Given the description of an element on the screen output the (x, y) to click on. 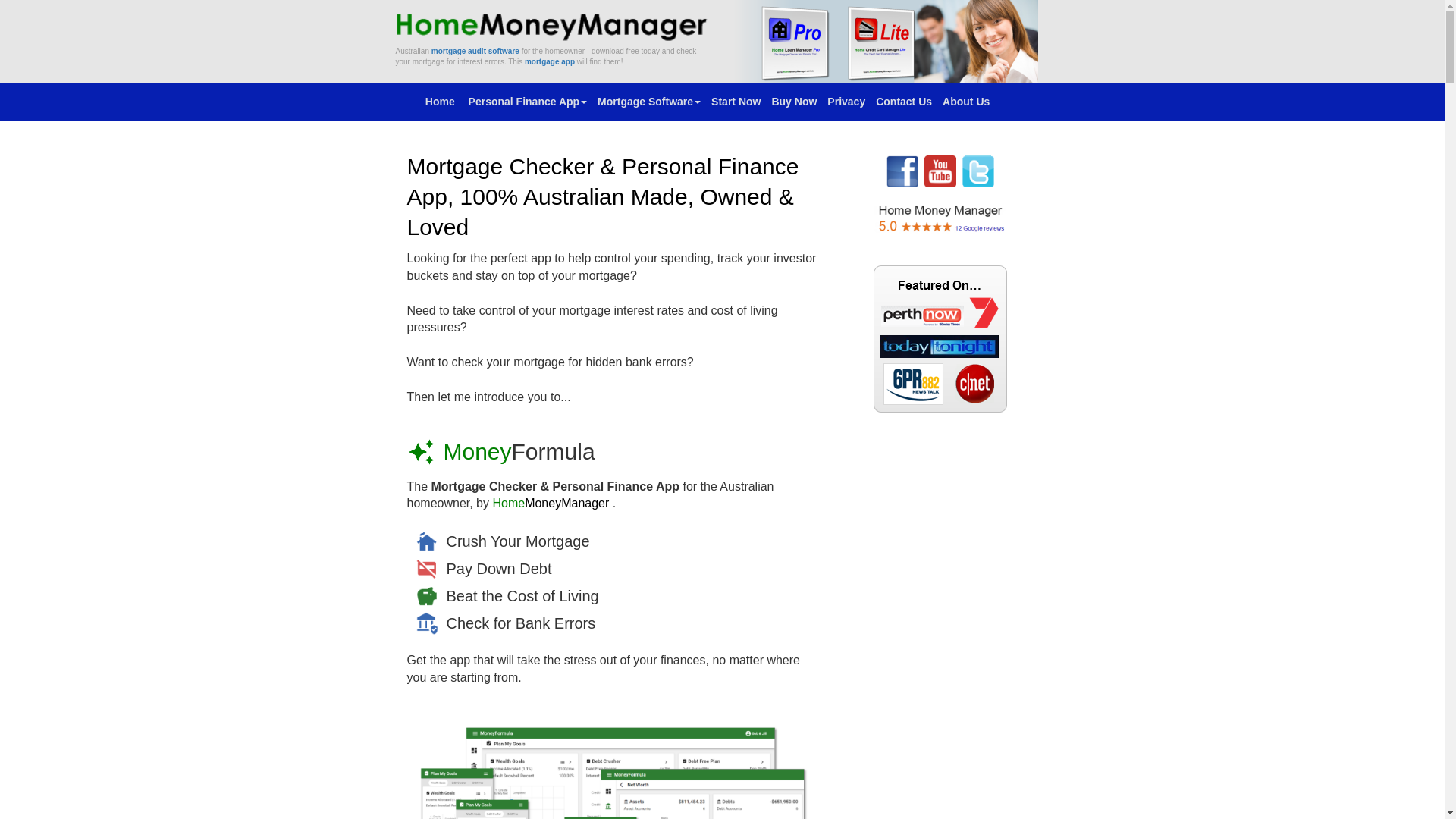
MoneyFormula Element type: text (518, 451)
mortgage app Element type: text (549, 61)
Mortgage Software - Reviews and Testimonials Element type: hover (940, 217)
About Us Element type: text (965, 101)
Buy Now Element type: text (793, 101)
Start Now Element type: text (735, 101)
Privacy Element type: text (846, 101)
Contact Us Element type: text (903, 101)
www.HomeMoneyManager.com Element type: hover (553, 24)
HomeMoneyManager - YouTube Channel Element type: hover (940, 171)
Home  Element type: text (441, 101)
Mortgage Software Element type: text (649, 101)
HomeMoneyManager - Facebook Page Element type: hover (902, 171)
HomeMoneyManager - Twitter Page Element type: hover (978, 171)
Personal Finance App Element type: text (528, 101)
mortgage audit software Element type: text (475, 51)
